Given the description of an element on the screen output the (x, y) to click on. 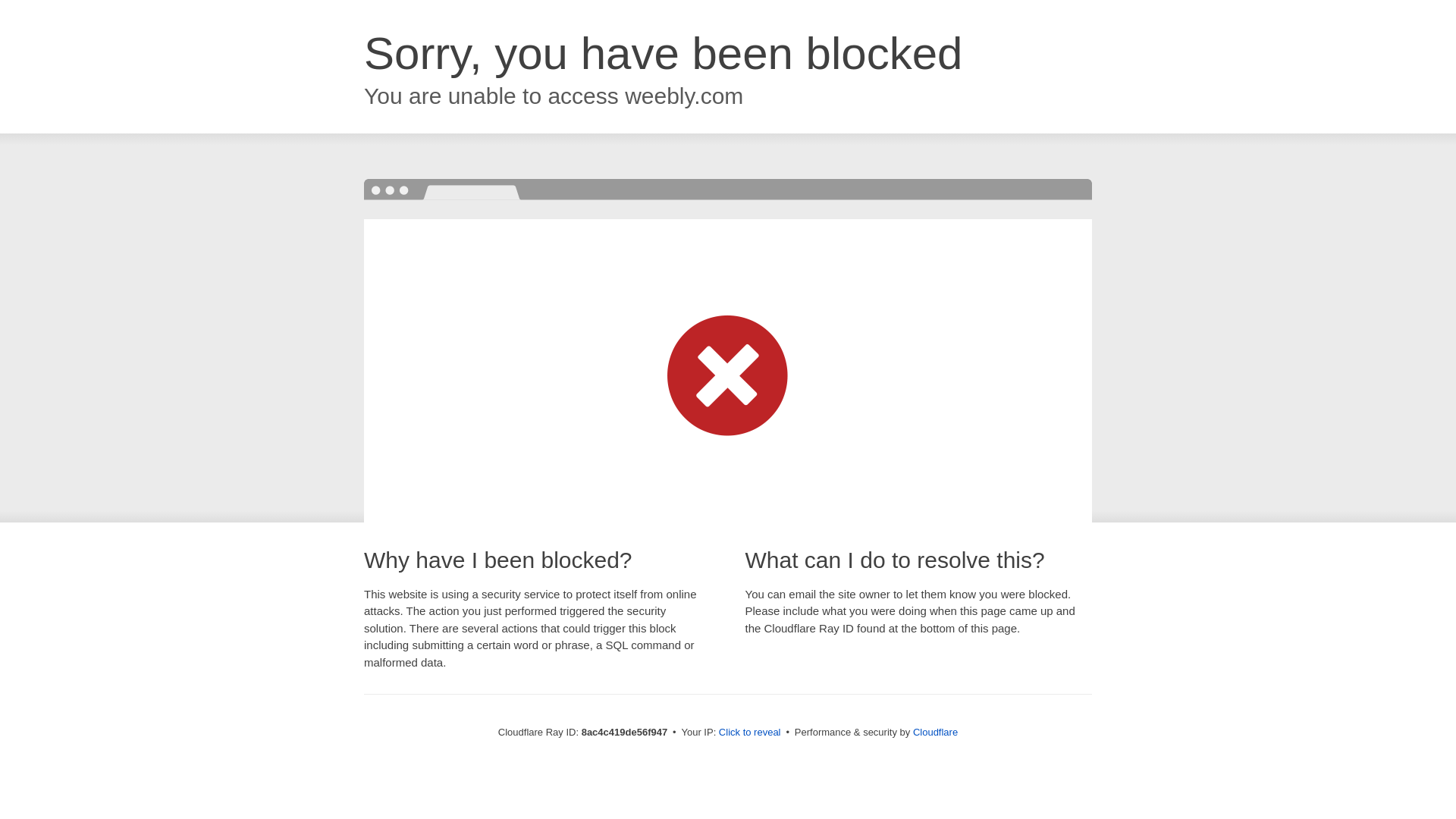
Cloudflare (935, 731)
Click to reveal (749, 732)
